Given the description of an element on the screen output the (x, y) to click on. 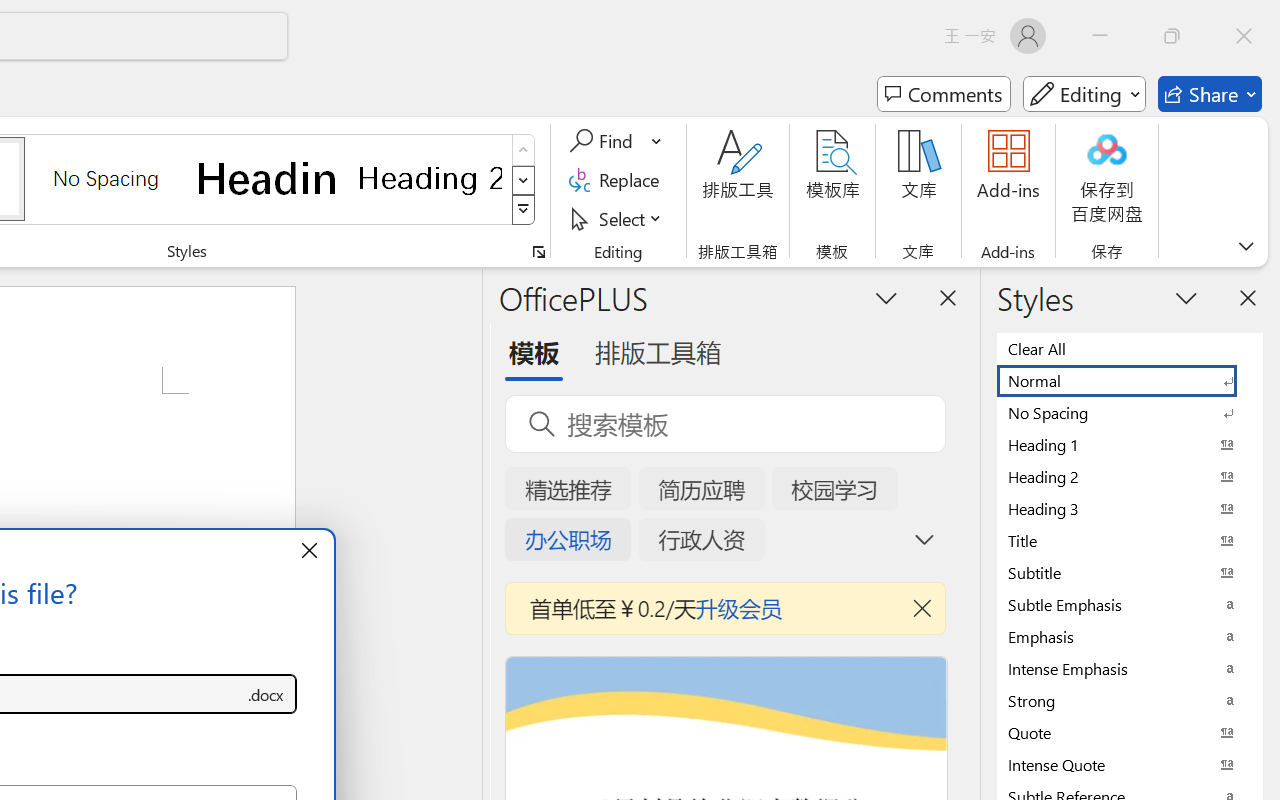
Find (604, 141)
Styles (523, 209)
Close (1244, 36)
Minimize (1099, 36)
Emphasis (1130, 636)
No Spacing (1130, 412)
Normal (1130, 380)
More Options (657, 141)
Subtle Emphasis (1130, 604)
Intense Quote (1130, 764)
Subtitle (1130, 572)
